Given the description of an element on the screen output the (x, y) to click on. 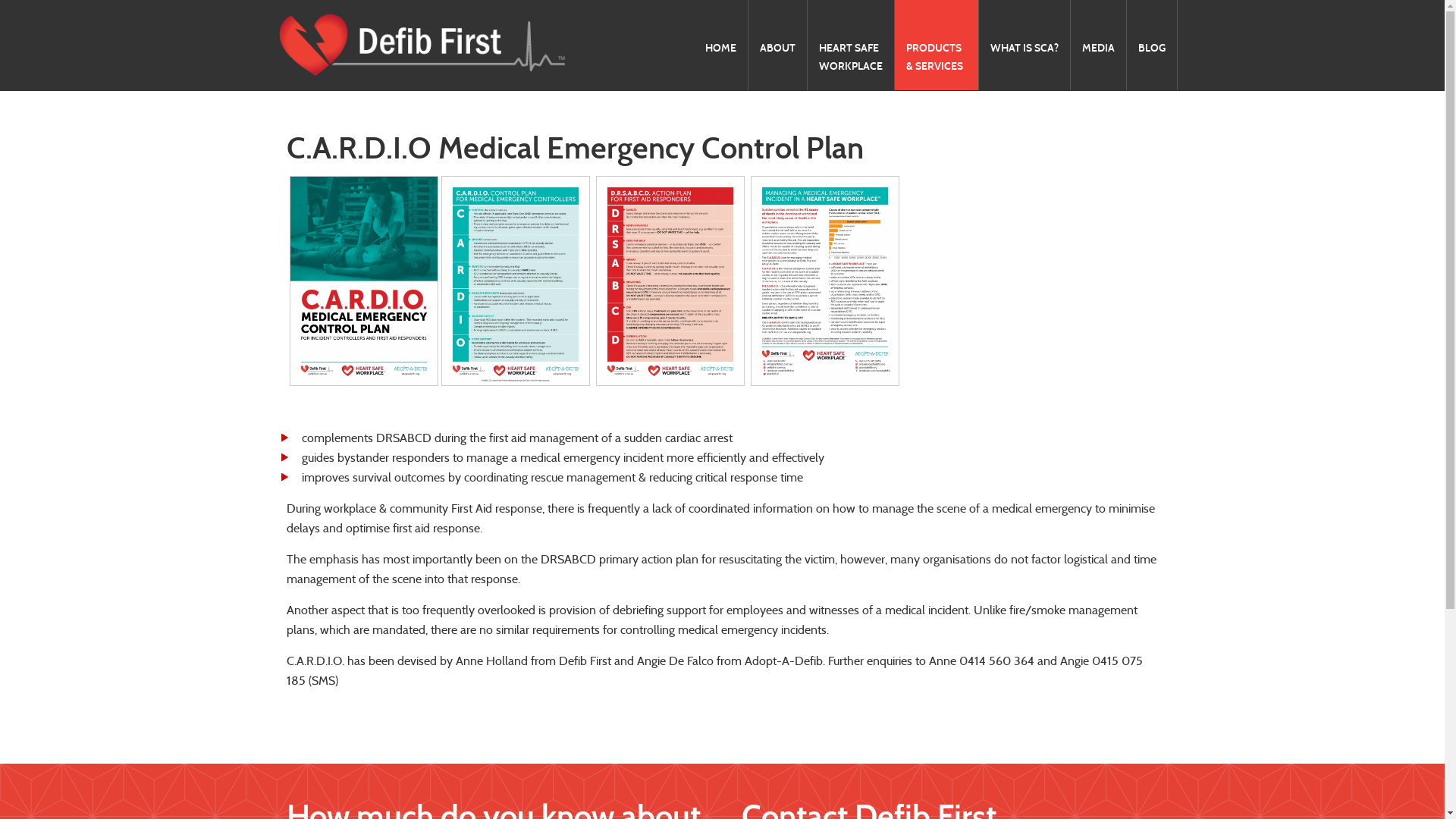
HOME Element type: text (719, 29)
MEDIA Element type: text (1098, 29)
PRODUCTS & SERVICES Element type: text (936, 38)
BLOG Element type: text (1151, 29)
HEART SAFE WORKPLACE Element type: text (849, 38)
WHAT IS SCA? Element type: text (1023, 29)
ABOUT Element type: text (776, 29)
